Given the description of an element on the screen output the (x, y) to click on. 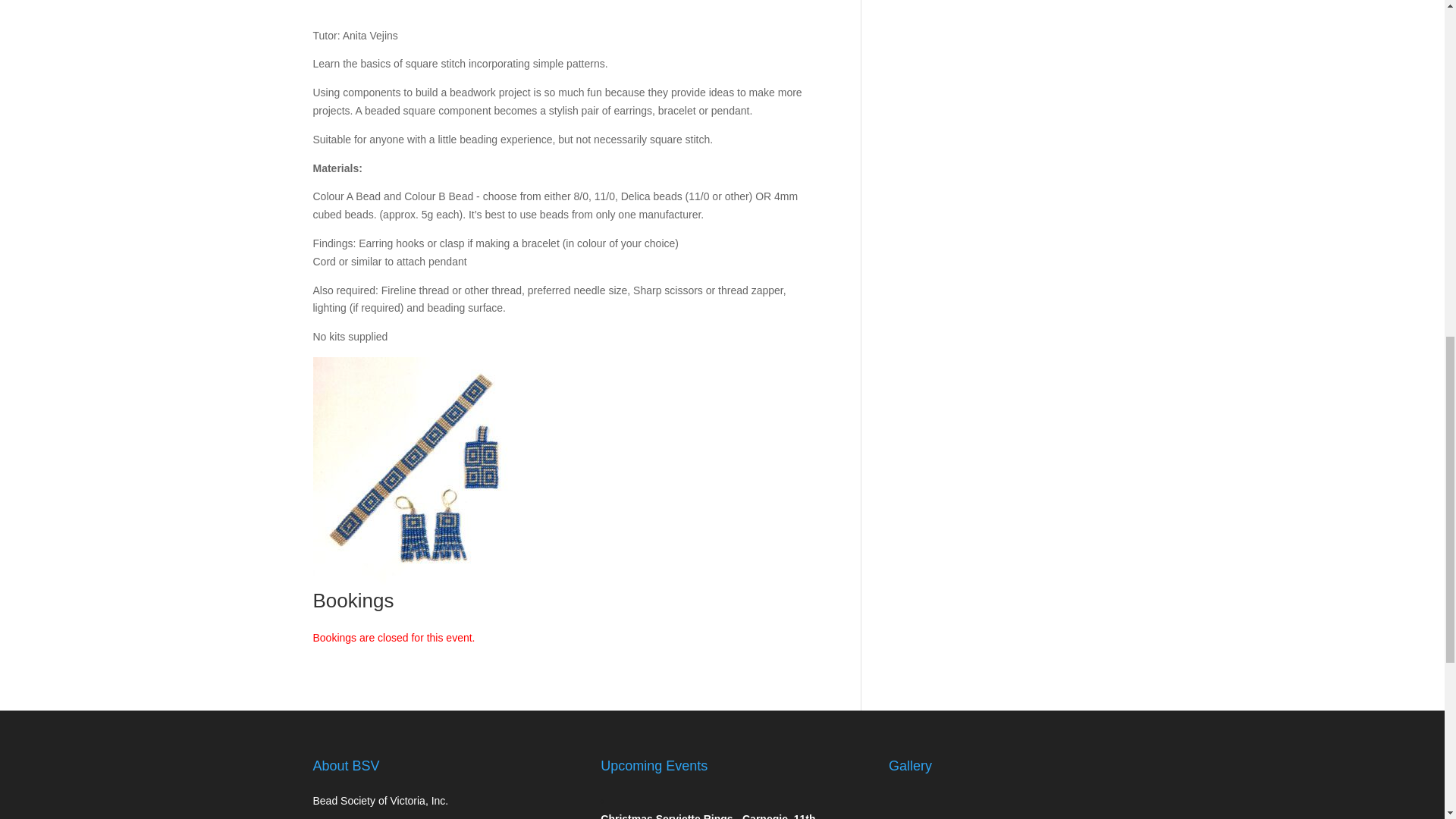
Bead Challenge 2023 Lynda Taylor 1 (924, 805)
Bead Challenge Nita Weller first place public vote (1004, 805)
Members Original Joanne Ivy, Aegean Sea, 1st Place (1082, 805)
